Given the description of an element on the screen output the (x, y) to click on. 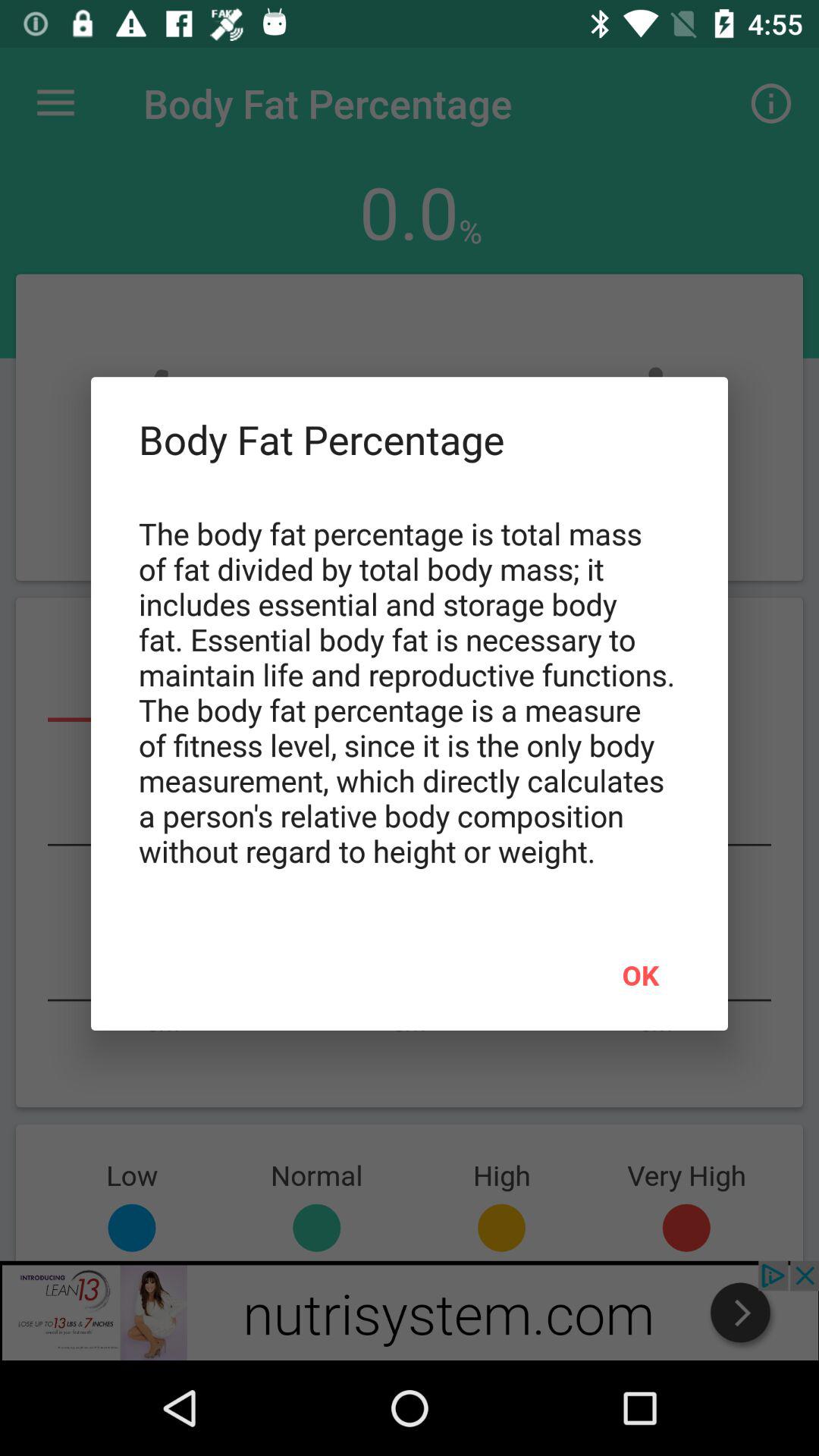
tap the ok at the bottom right corner (640, 974)
